Given the description of an element on the screen output the (x, y) to click on. 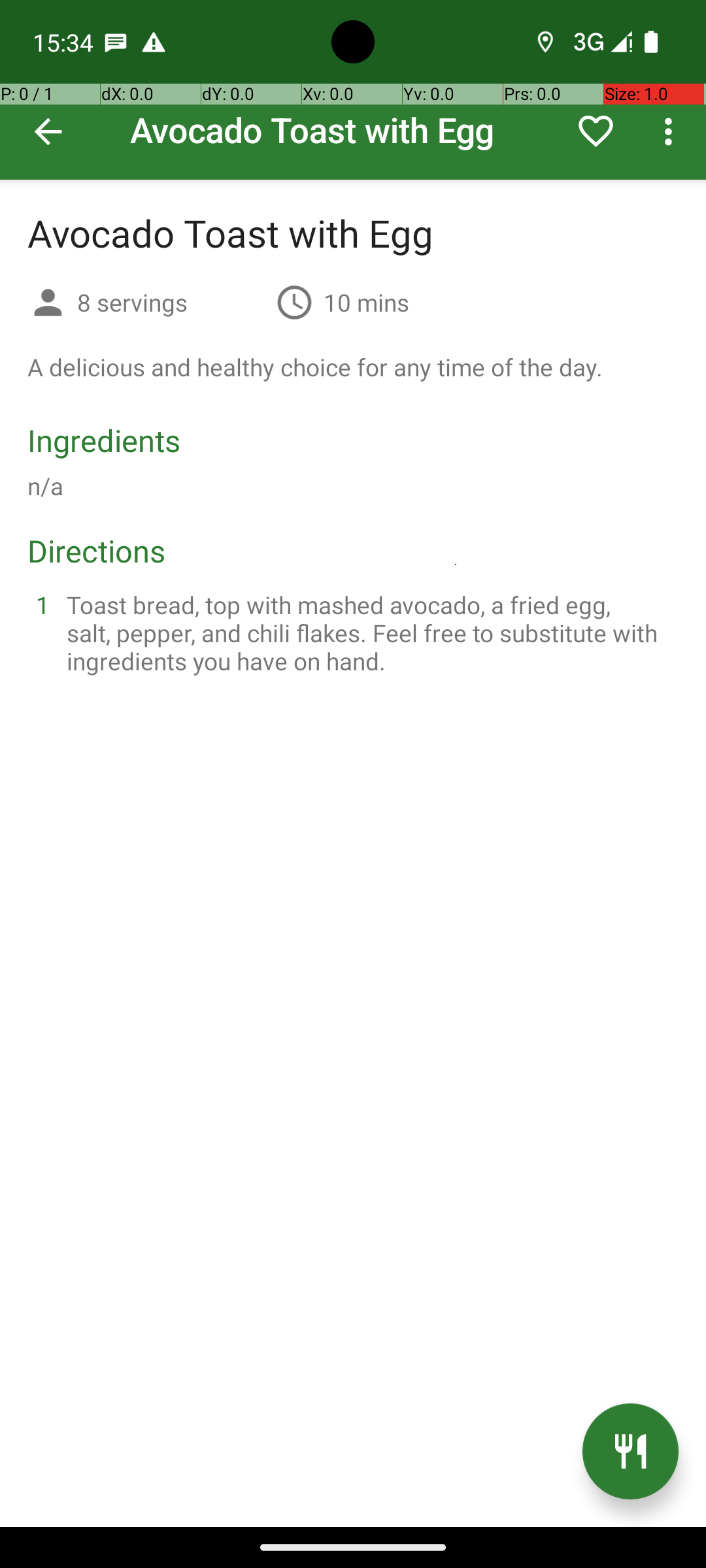
10 mins Element type: android.widget.TextView (366, 301)
n/a Element type: android.widget.TextView (45, 485)
Toast bread, top with mashed avocado, a fried egg, salt, pepper, and chili flakes. Feel free to substitute with ingredients you have on hand. Element type: android.widget.TextView (368, 632)
